Given the description of an element on the screen output the (x, y) to click on. 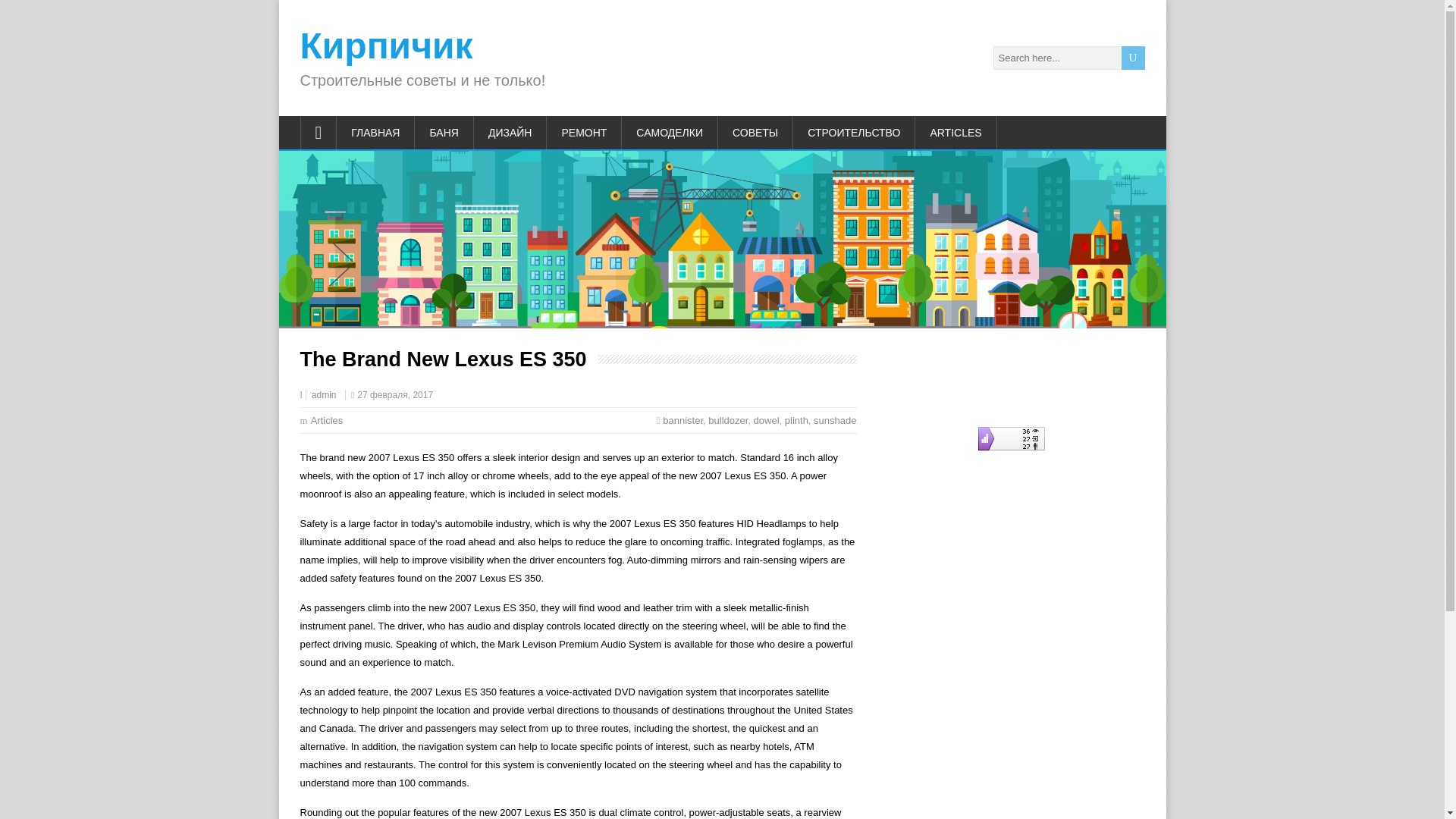
Articles (327, 419)
dowel (766, 419)
ARTICLES (955, 132)
bulldozer (727, 419)
bannister (682, 419)
plinth (796, 419)
admin (323, 394)
U (1132, 57)
U (1132, 57)
sunshade (834, 419)
